Given the description of an element on the screen output the (x, y) to click on. 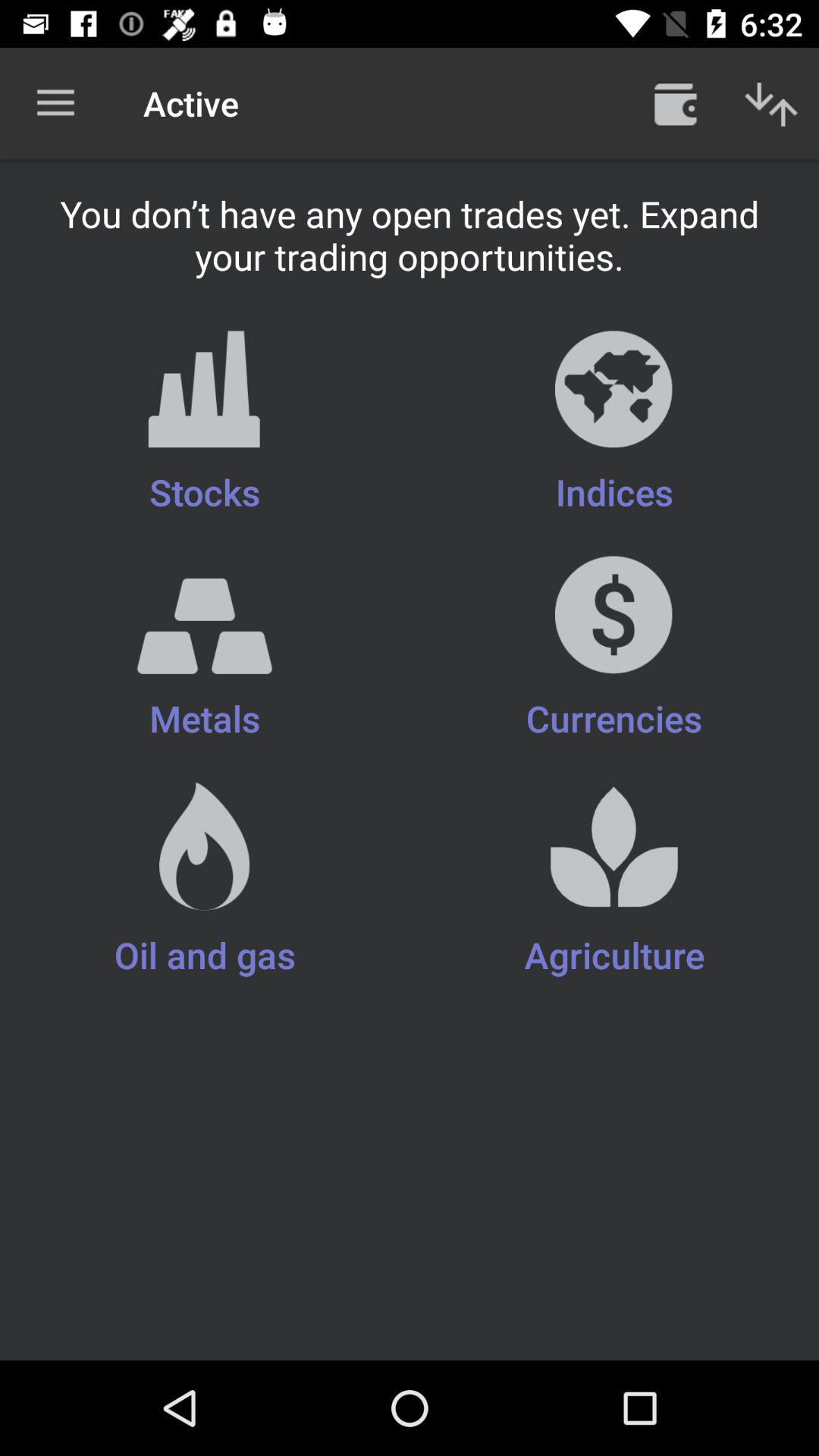
scroll until oil and gas (204, 880)
